Given the description of an element on the screen output the (x, y) to click on. 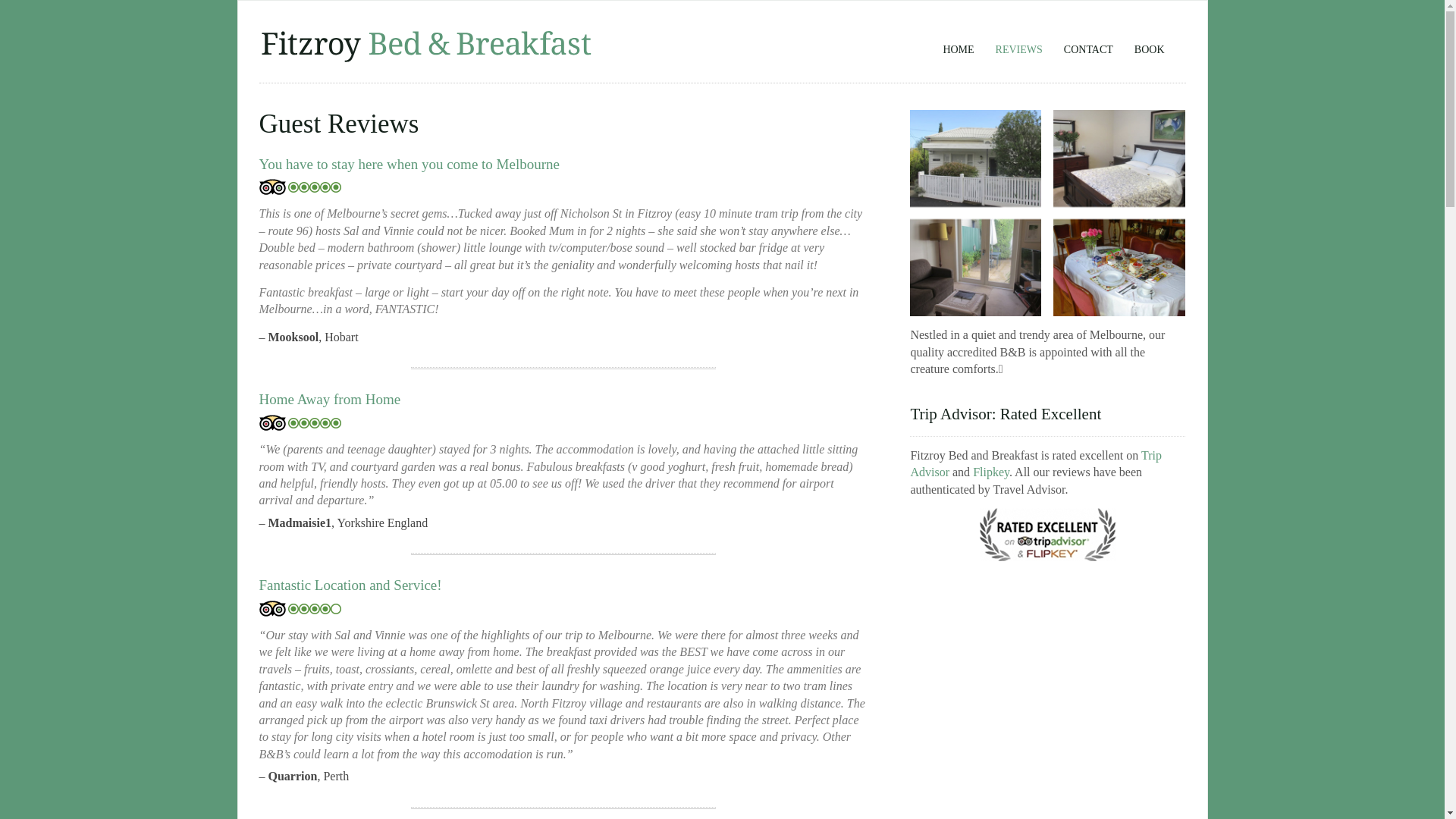
Trip Advisor Element type: text (1035, 463)
BOOK Element type: text (1149, 44)
REVIEWS Element type: text (1019, 44)
CONTACT Element type: text (1088, 44)
Fitzroy Bed & Breakfast Element type: hover (426, 58)
Flipkey Element type: text (990, 471)
HOME Element type: text (957, 44)
Trip Advisor Element type: hover (1047, 561)
